Given the description of an element on the screen output the (x, y) to click on. 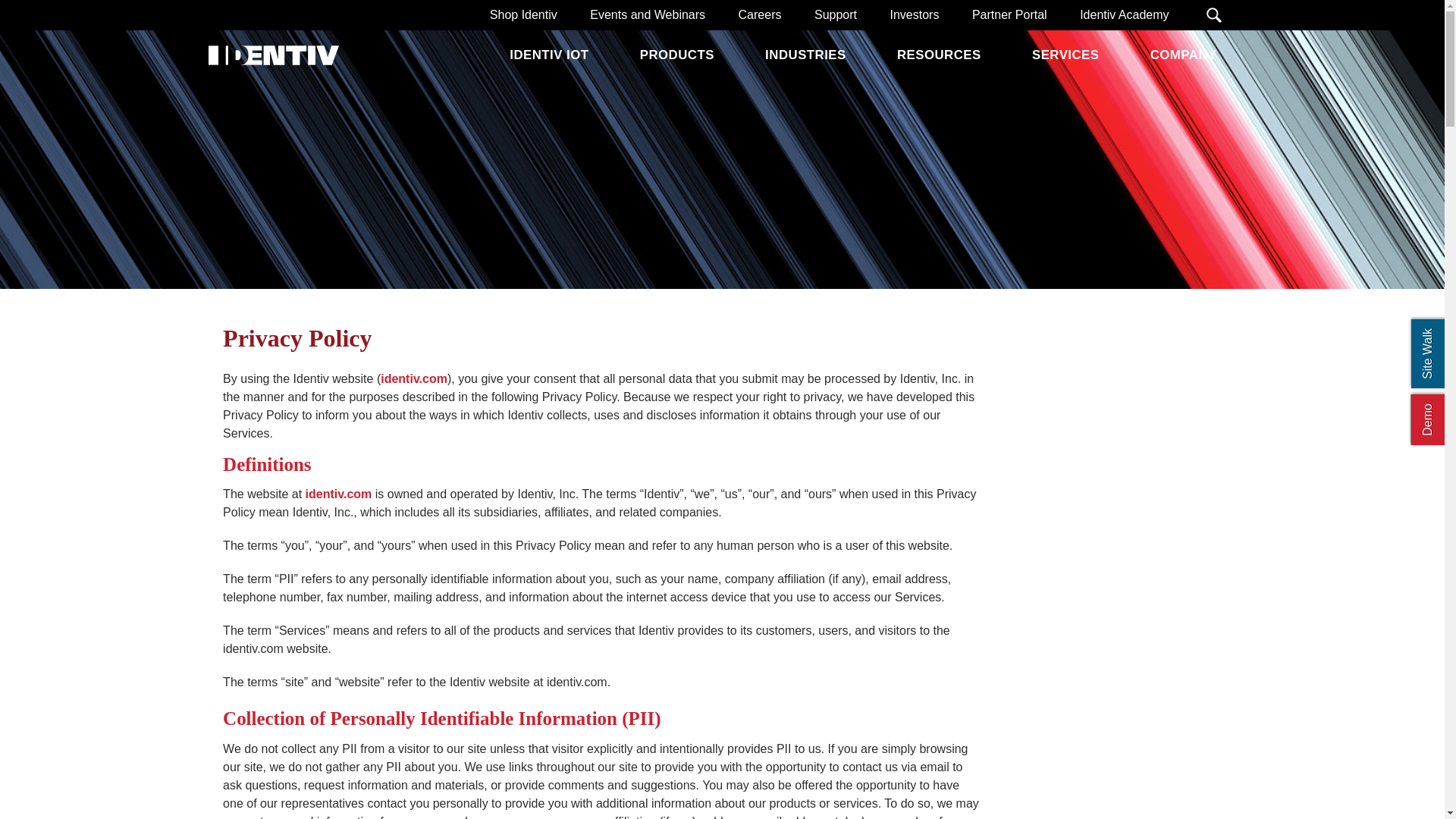
Events and Webinars (647, 15)
Identiv. Link to homepage (270, 56)
Search (1213, 15)
INDUSTRIES (805, 55)
Identiv Academy (1123, 15)
PRODUCTS (676, 55)
IDENTIV IOT (549, 55)
Shop Identiv (523, 15)
Partner Portal (1008, 15)
Careers (759, 15)
